Given the description of an element on the screen output the (x, y) to click on. 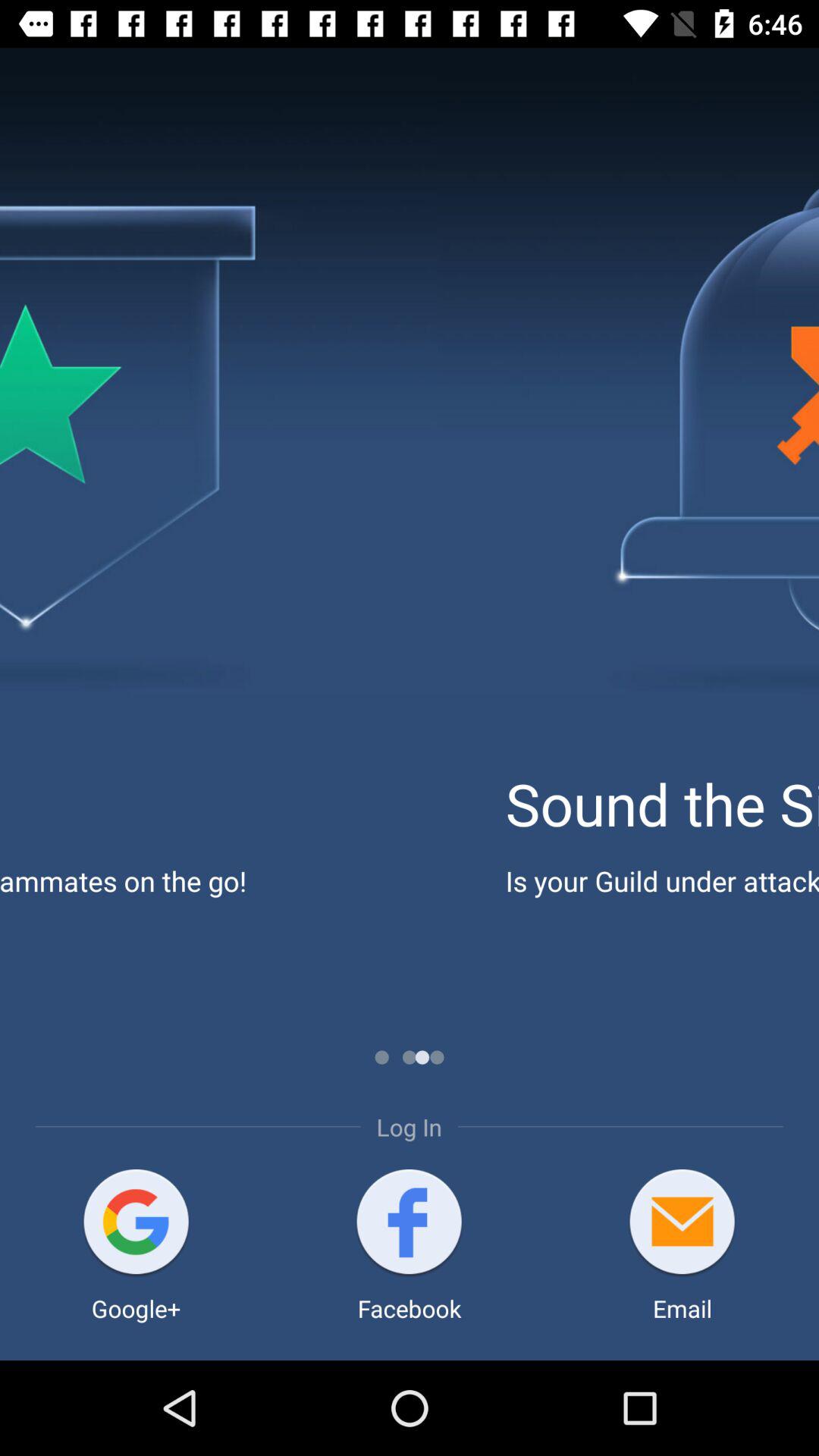
email option (681, 1223)
